Given the description of an element on the screen output the (x, y) to click on. 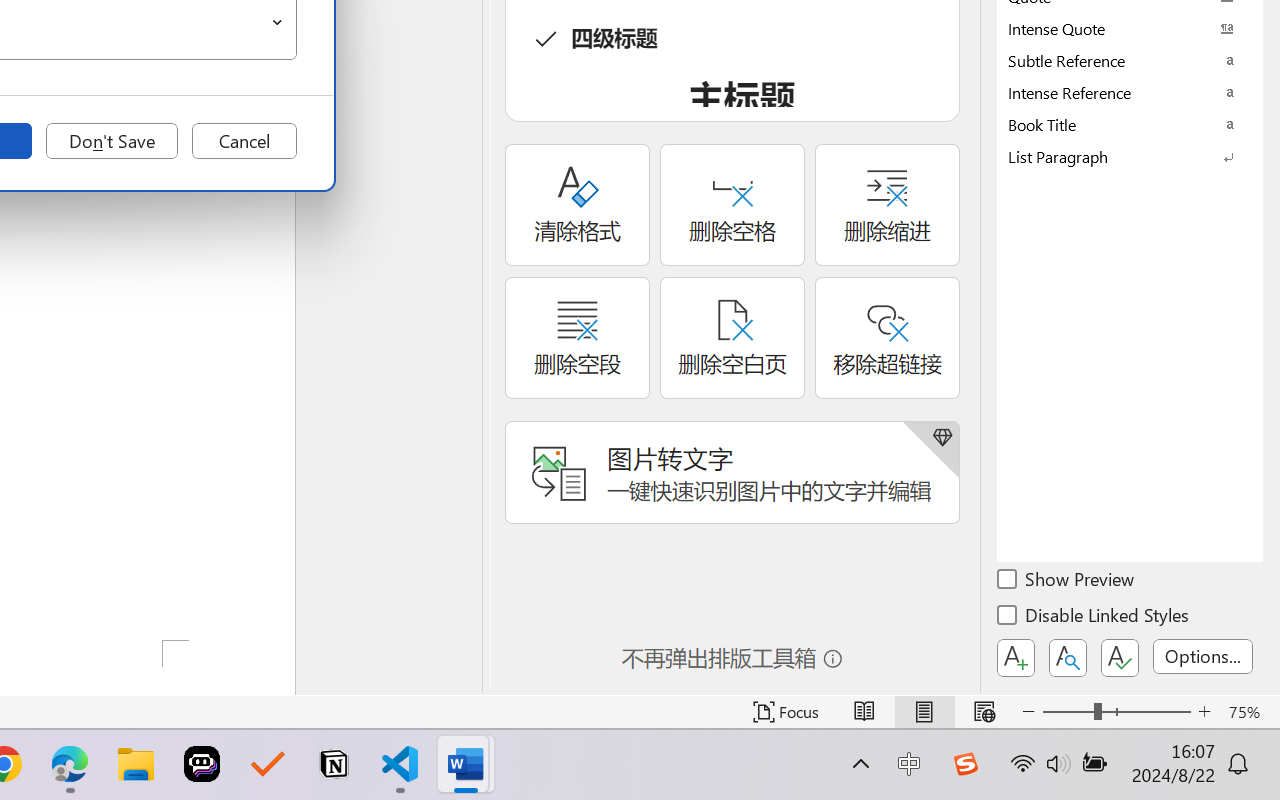
List Paragraph (1130, 156)
Zoom In (1204, 712)
Web Layout (984, 712)
Intense Quote (1130, 28)
Print Layout (924, 712)
Subtle Reference (1130, 60)
Show Preview (1067, 582)
Intense Reference (1130, 92)
